Given the description of an element on the screen output the (x, y) to click on. 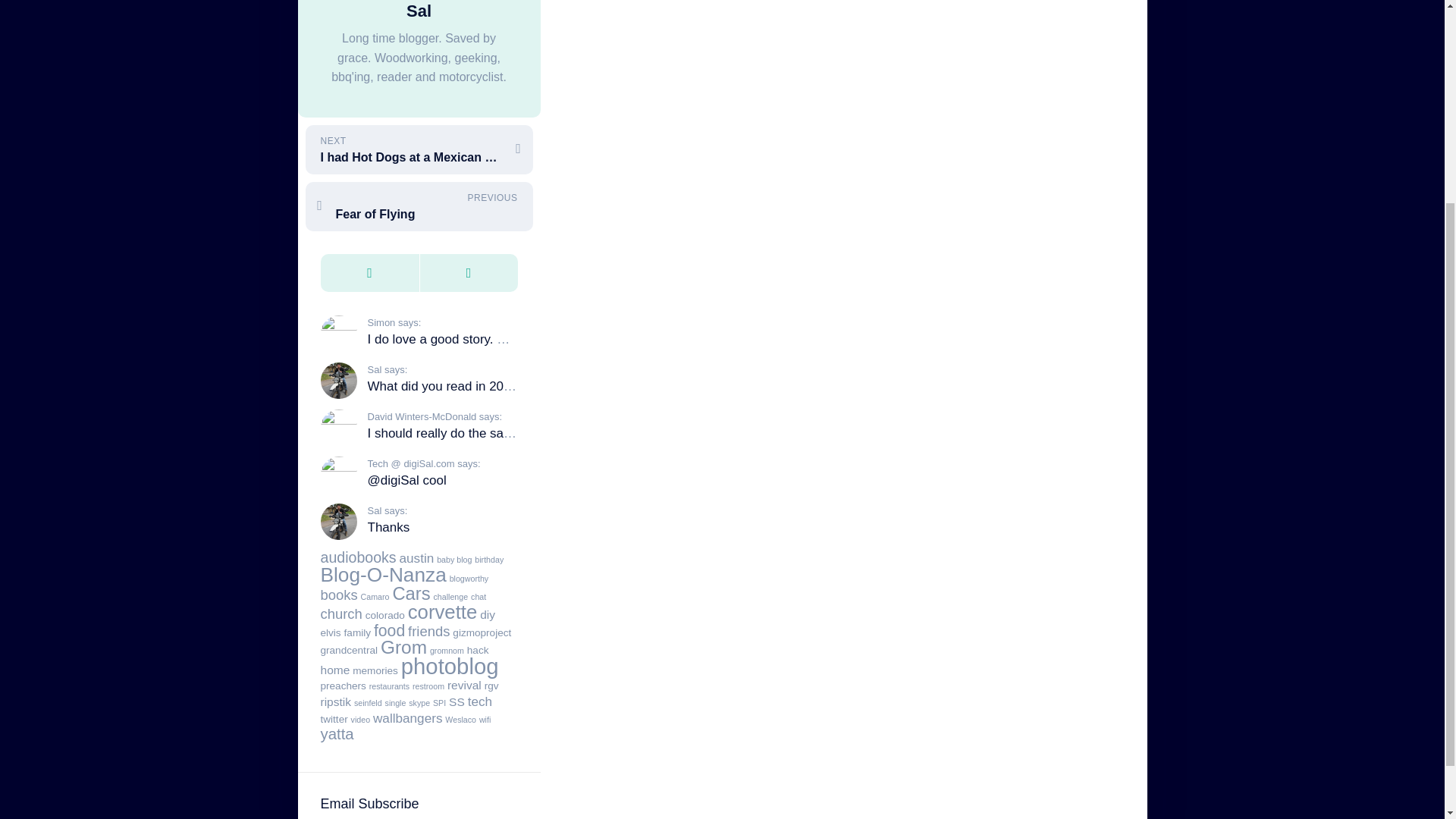
church (340, 613)
Thanks (387, 527)
I should really do the same. (445, 432)
hack (478, 650)
elvis (330, 632)
Camaro (375, 596)
chat (478, 596)
Grom (403, 647)
birthday (488, 559)
Blog-O-Nanza (382, 574)
